Given the description of an element on the screen output the (x, y) to click on. 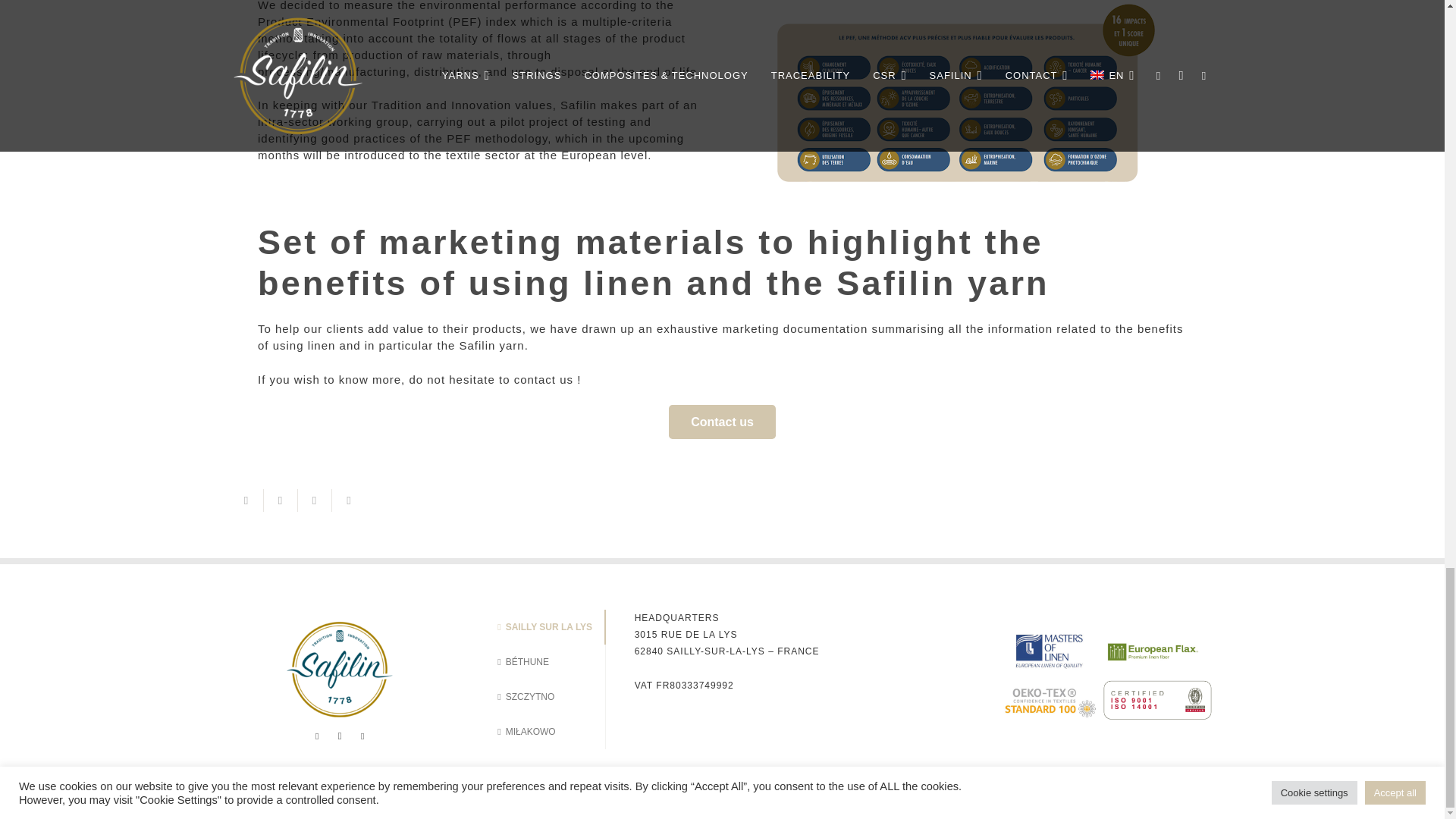
SAILLY SUR LA LYS (551, 626)
LinkedIn (317, 735)
Facebook (362, 735)
Tweet this (314, 499)
Email this (245, 499)
Instagram (339, 735)
Contact us (721, 421)
Contact (721, 421)
Share this (280, 499)
SZCZYTNO (551, 696)
Share this (348, 499)
